Given the description of an element on the screen output the (x, y) to click on. 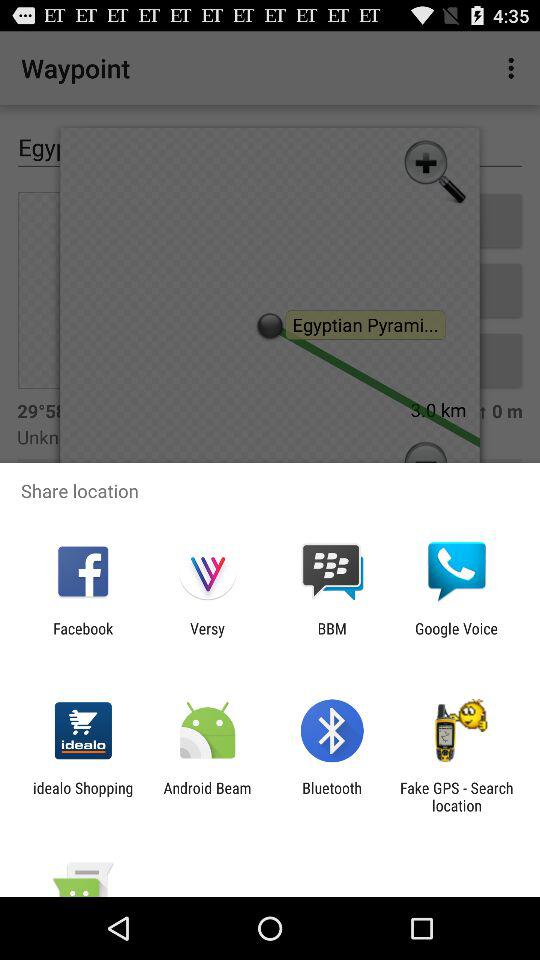
select icon next to bbm item (456, 637)
